Given the description of an element on the screen output the (x, y) to click on. 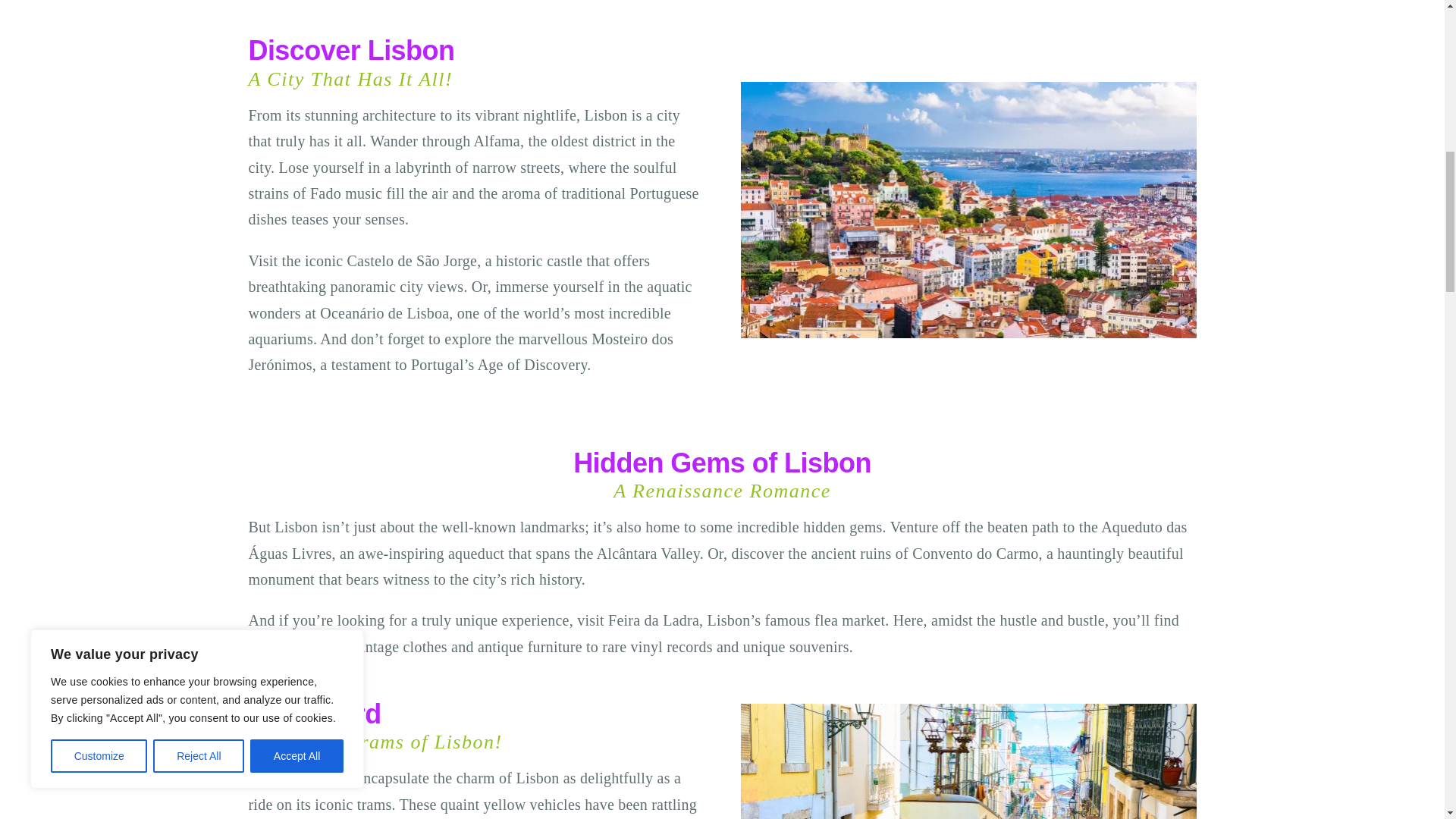
A view of the incline and Bica tram, Lisbon, Portugal (968, 761)
